Given the description of an element on the screen output the (x, y) to click on. 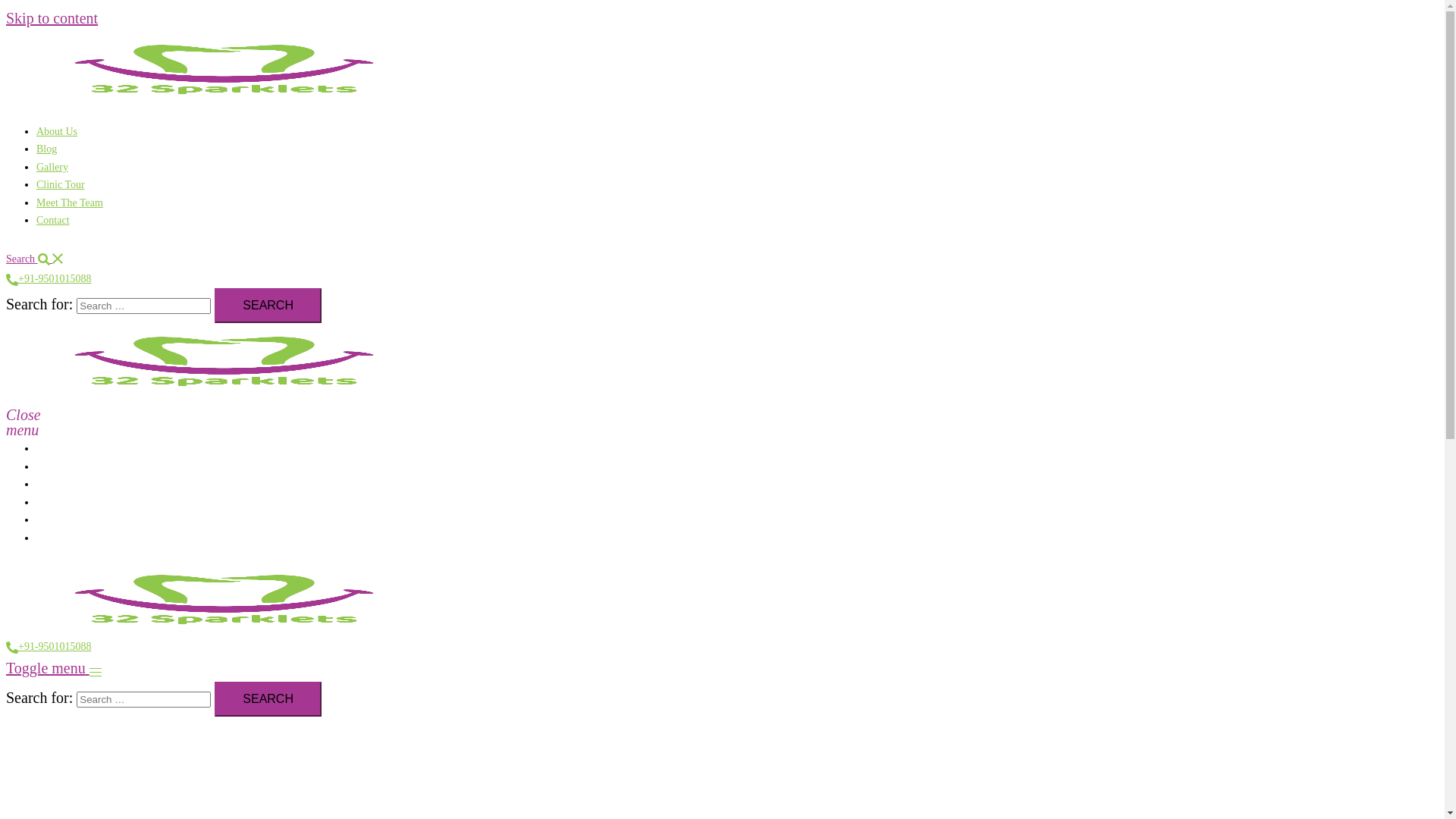
Clinic Tour Element type: text (60, 502)
Clinic Tour Element type: text (60, 184)
Contact Element type: text (52, 537)
Gallery Element type: text (52, 483)
+91-9501015088 Element type: text (48, 646)
About Us Element type: text (56, 131)
Blog Element type: text (46, 466)
Search Element type: text (267, 305)
Gallery Element type: text (52, 166)
Toggle menu Element type: text (53, 667)
About Us Element type: text (56, 448)
Search Element type: text (35, 258)
Skip to content Element type: text (51, 17)
Meet The Team Element type: text (69, 202)
32 Sparklets | Best Dentist In Mohali & Chandigarh Element type: hover (230, 597)
Search Element type: text (267, 698)
+91-9501015088 Element type: text (48, 278)
Contact Element type: text (52, 219)
Close menu Element type: text (12, 411)
32 Sparklets | Best Dentist In Mohali & Chandigarh Element type: hover (230, 359)
Meet The Team Element type: text (69, 519)
Blog Element type: text (46, 148)
32 Sparklets | Best Dentist In Mohali & Chandigarh Element type: hover (230, 67)
